Given the description of an element on the screen output the (x, y) to click on. 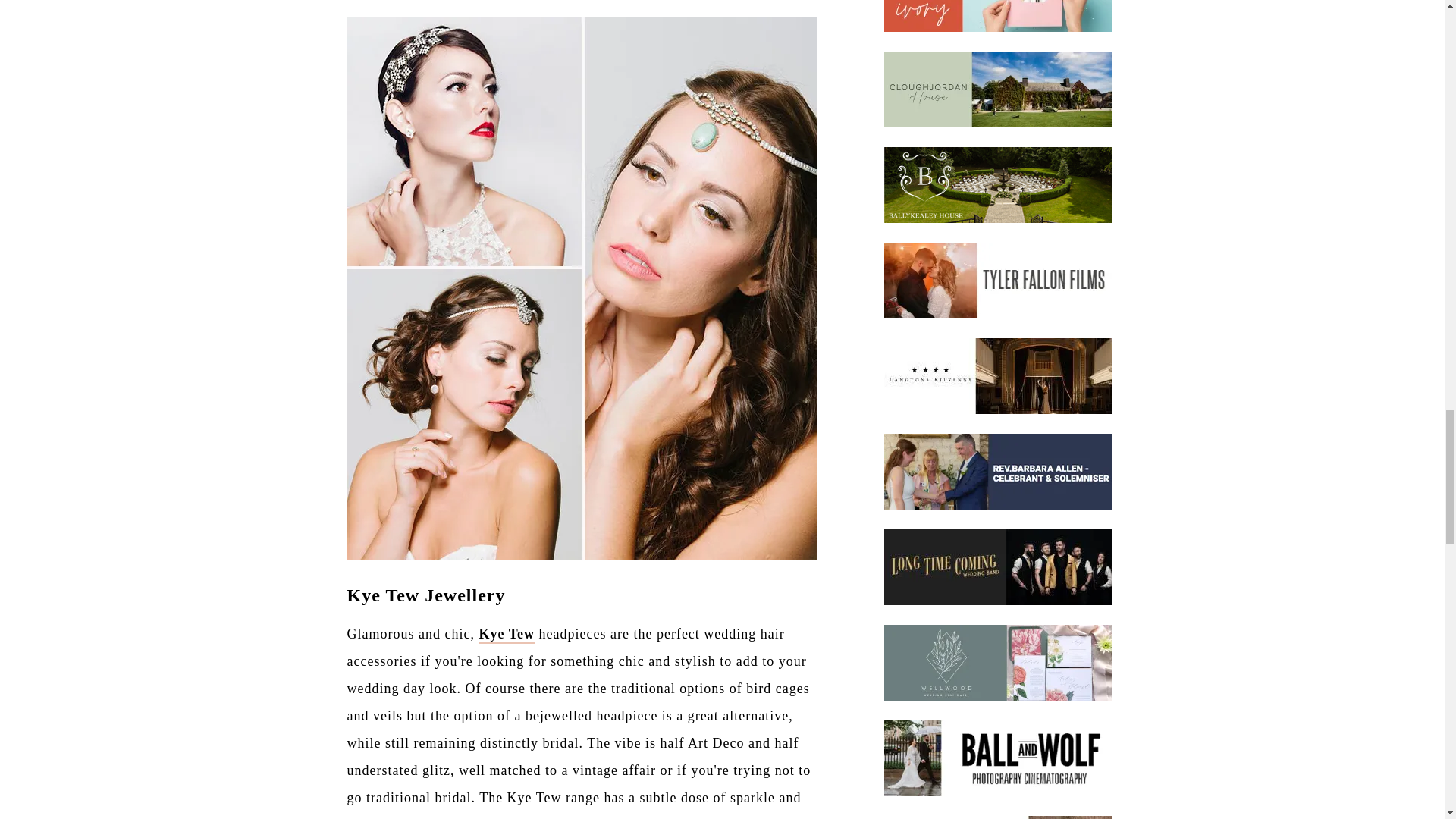
Kye Tew (506, 634)
